Given the description of an element on the screen output the (x, y) to click on. 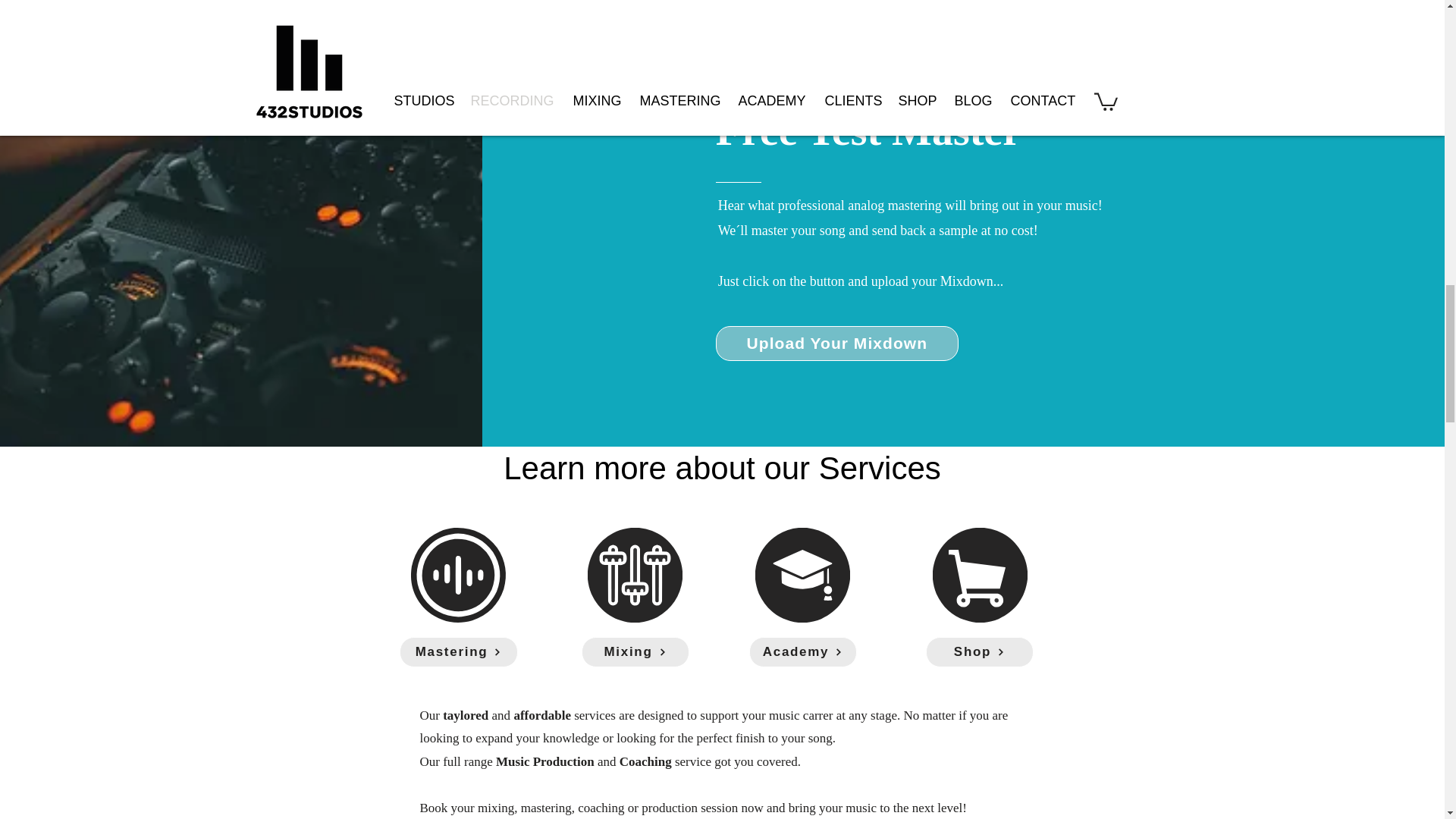
Upload Your Mixdown (837, 343)
Academy (803, 652)
Mastering (457, 652)
Shop (978, 652)
Mixing (634, 652)
